Given the description of an element on the screen output the (x, y) to click on. 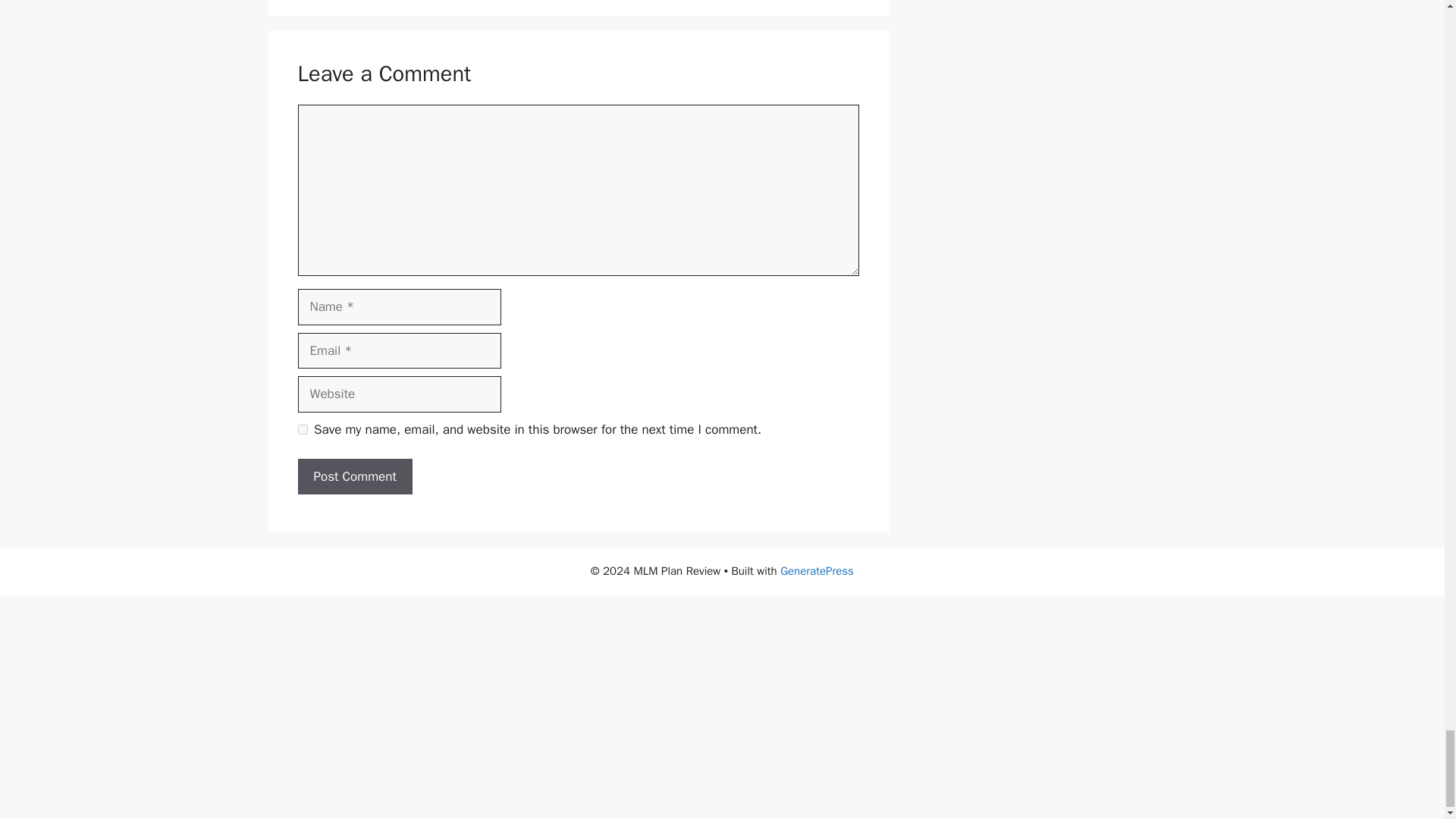
Post Comment (354, 476)
yes (302, 429)
